Given the description of an element on the screen output the (x, y) to click on. 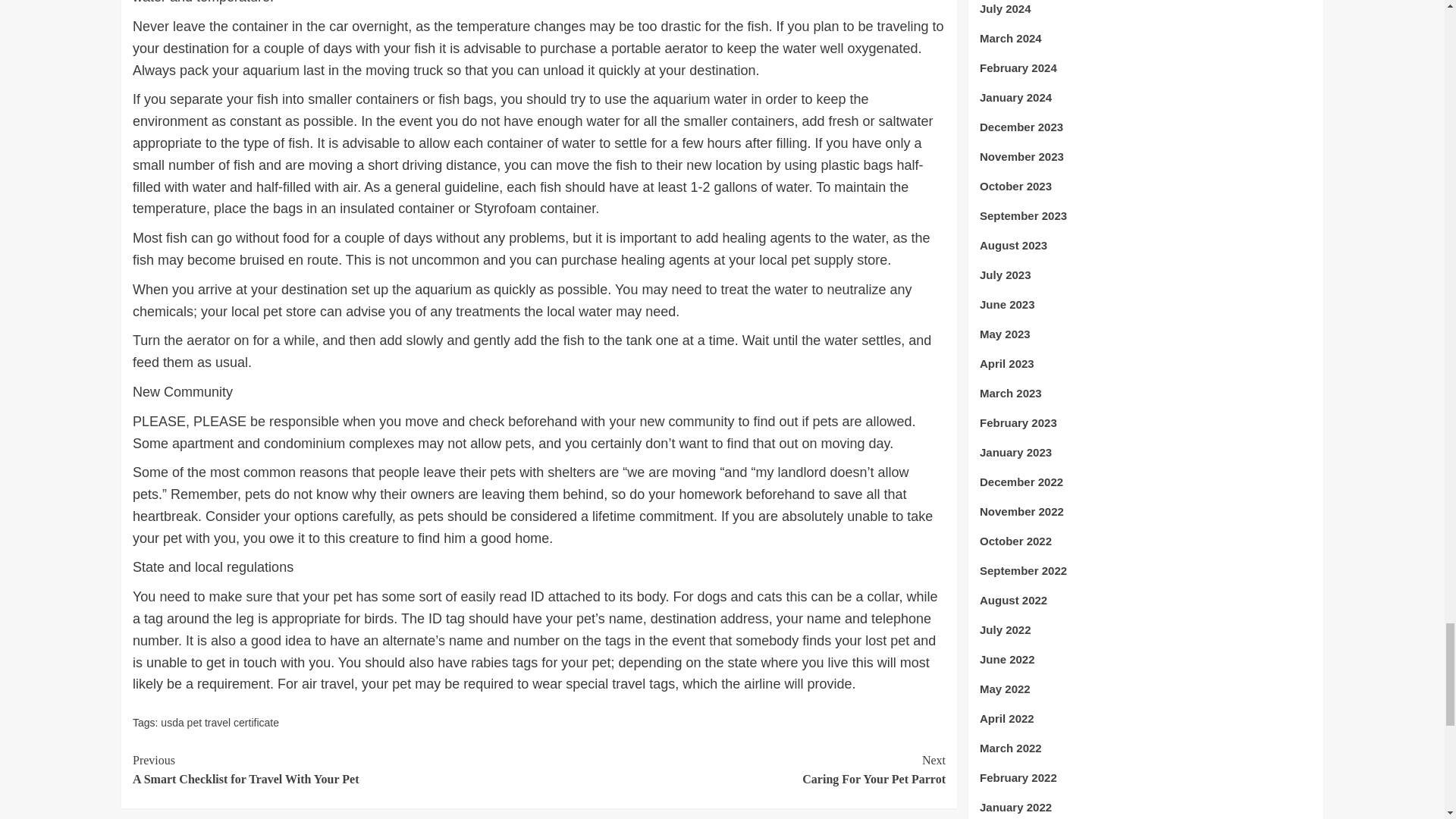
usda pet travel certificate (741, 770)
